Given the description of an element on the screen output the (x, y) to click on. 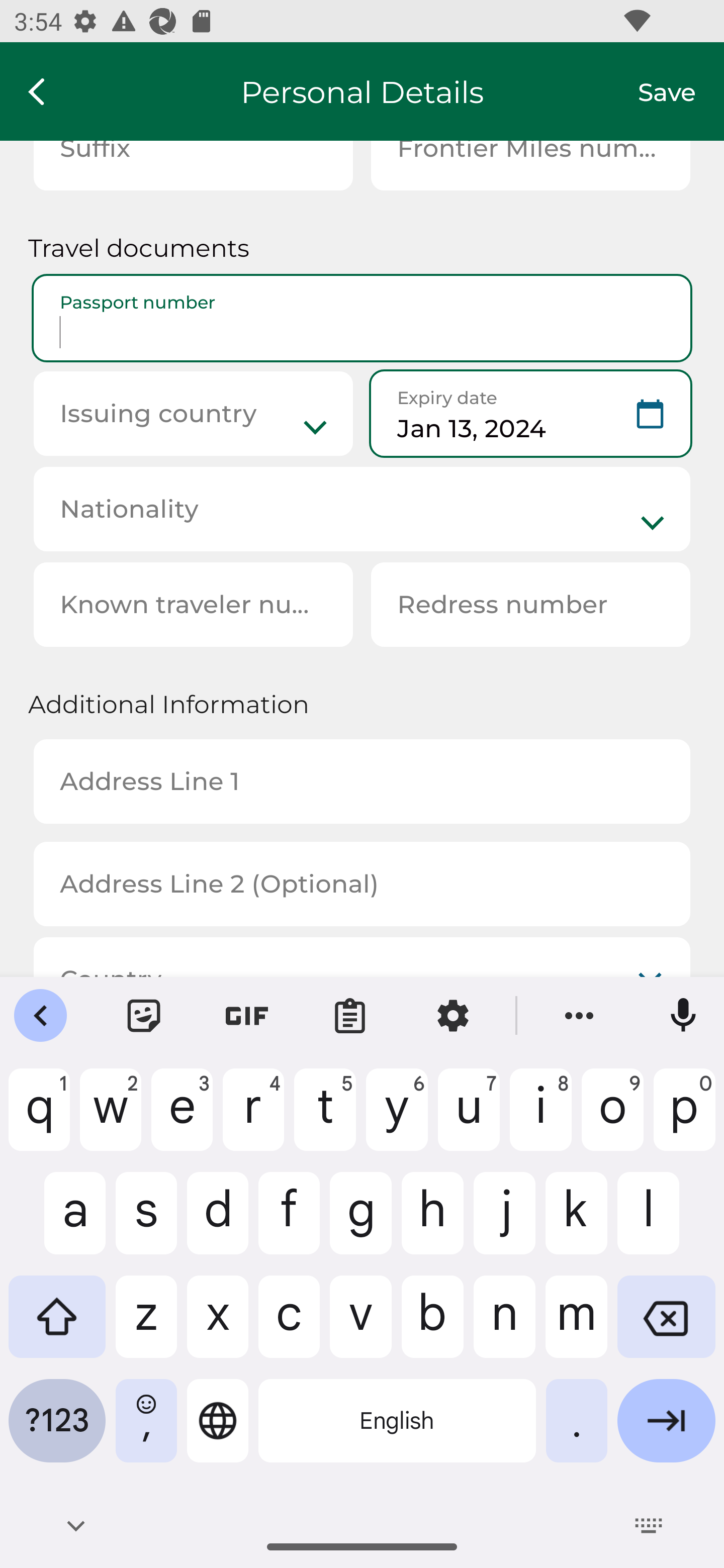
Save (680, 91)
Passport number (361, 318)
Issuing country (192, 413)
Jan 13, 2024 (530, 413)
Nationality (361, 508)
Known traveler number (192, 604)
Redress number (530, 604)
Address Line 1 (361, 781)
Address Line 2 (Optional) (361, 884)
